Given the description of an element on the screen output the (x, y) to click on. 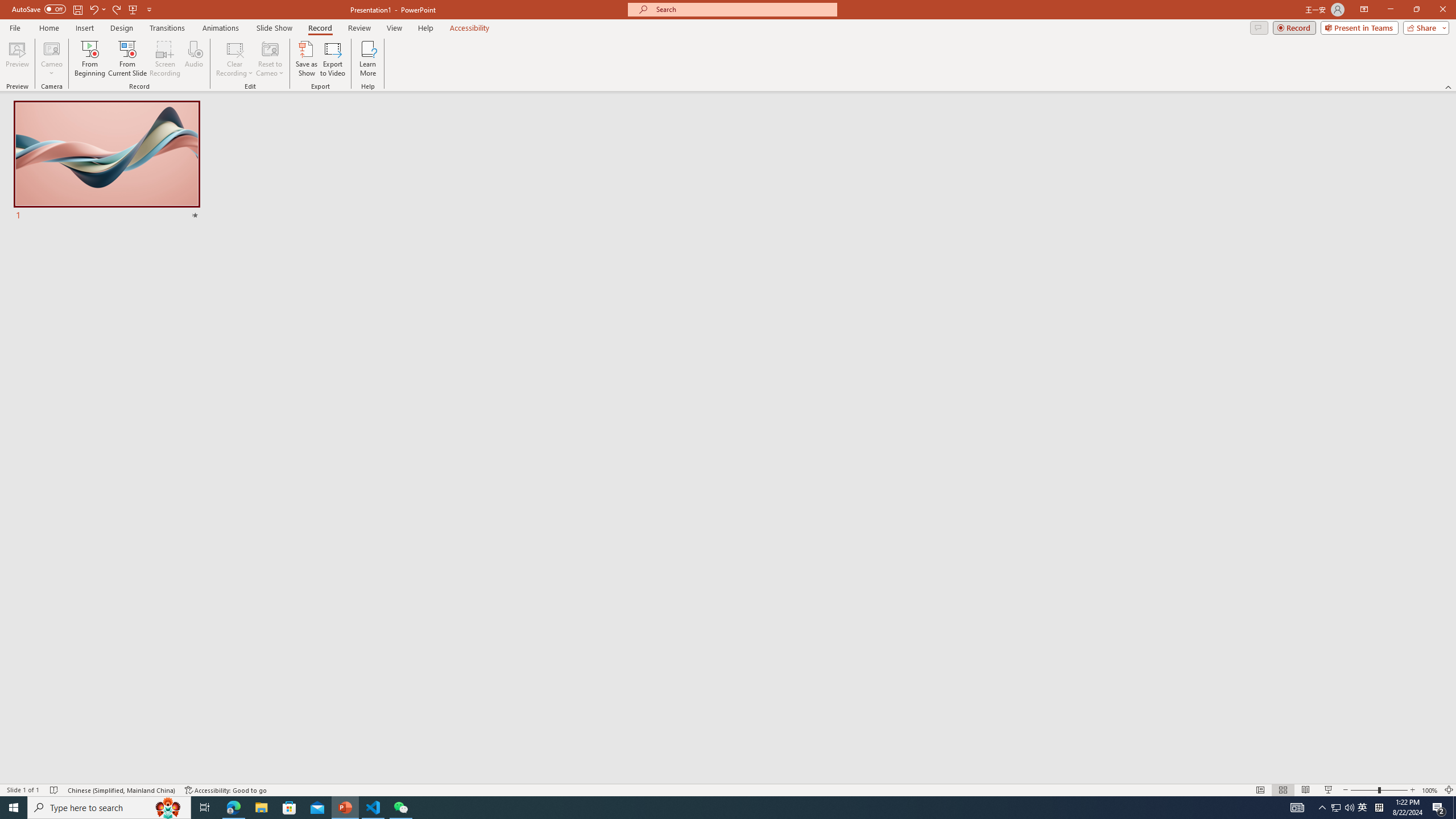
Zoom 100% (1430, 790)
